Given the description of an element on the screen output the (x, y) to click on. 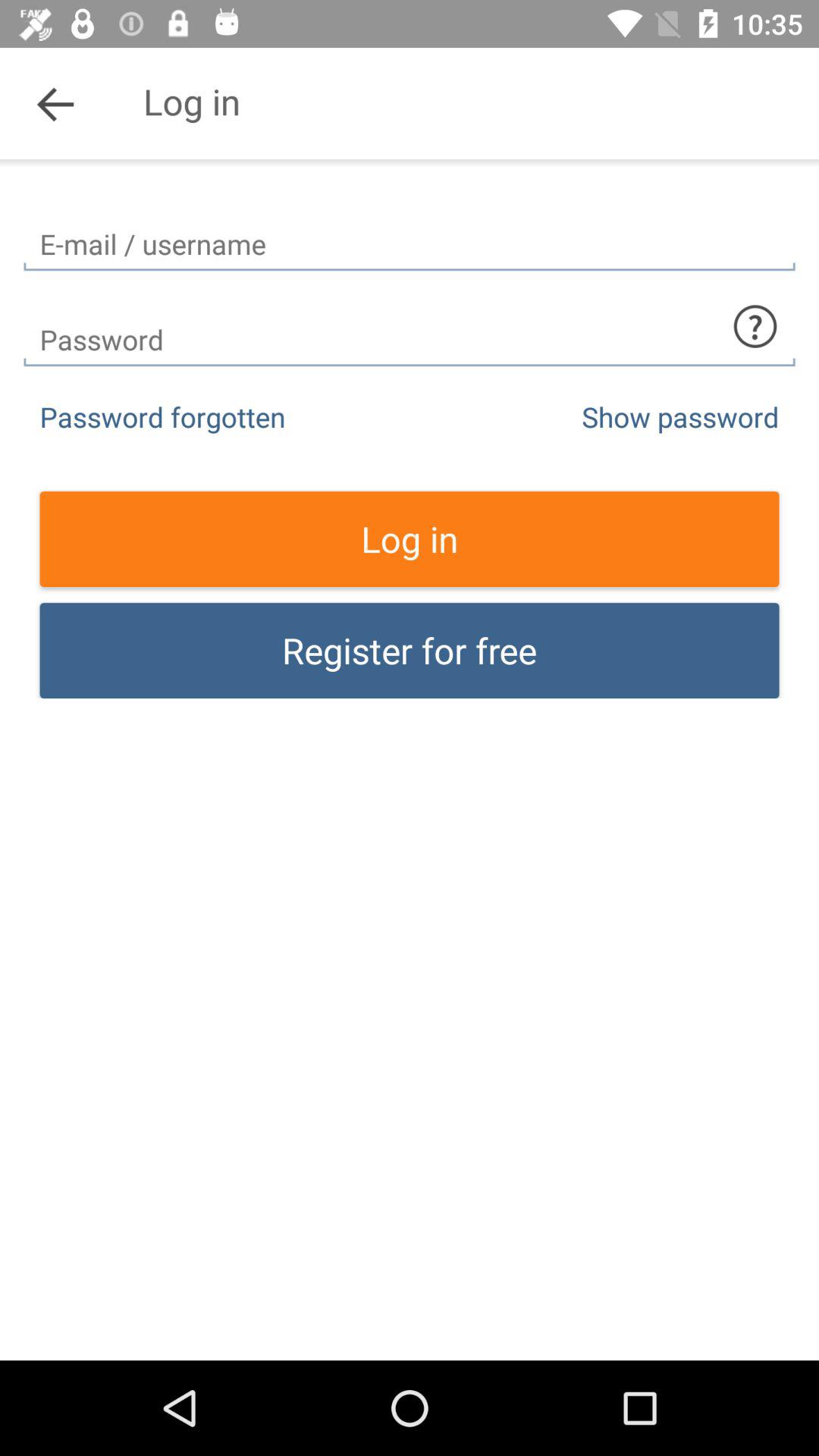
help your password (755, 326)
